Given the description of an element on the screen output the (x, y) to click on. 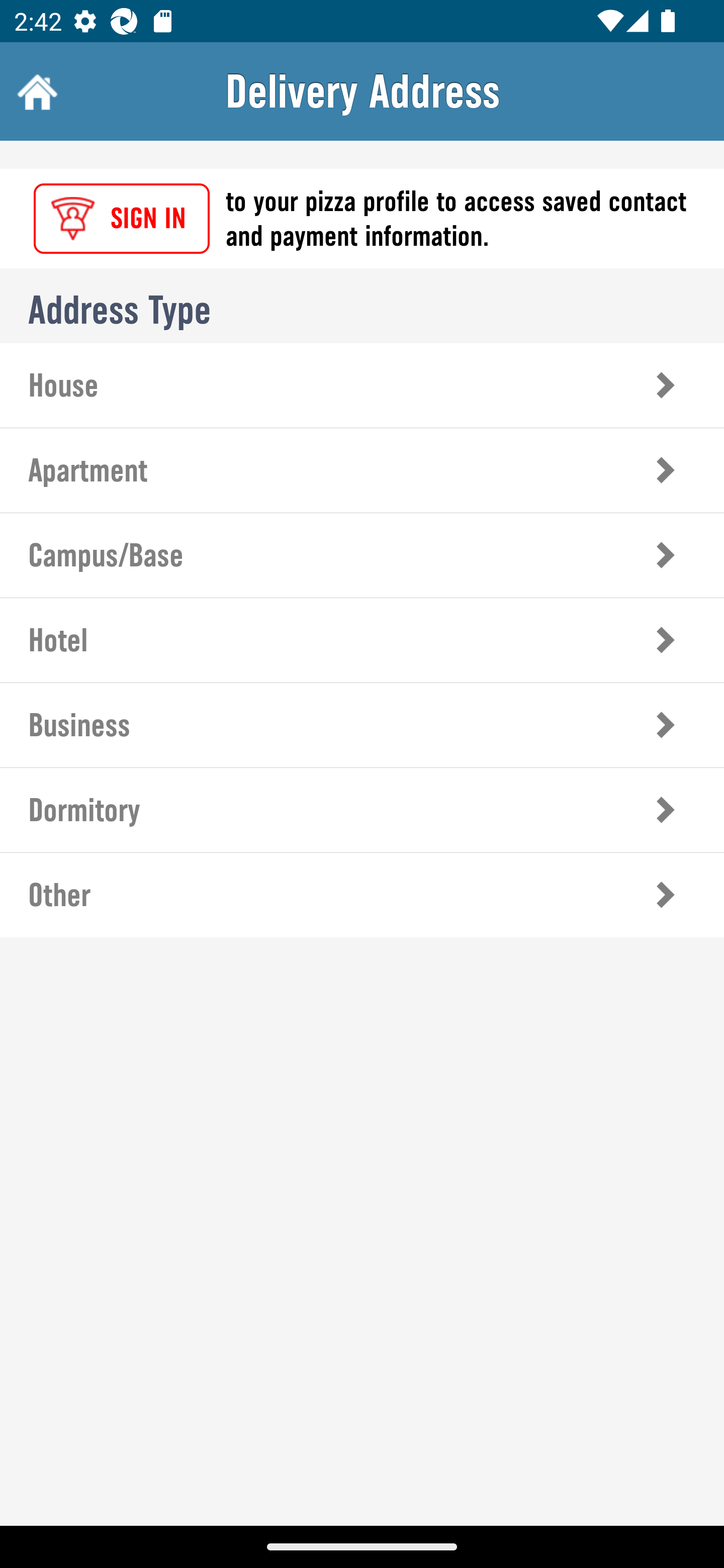
Home (35, 91)
SIGN IN (121, 218)
1 of 7, House House Address Details (362, 385)
2 of 7, Apartment Apartment Address Details (362, 470)
3 of 7, Campus/Base Campus/Base Address Details (362, 554)
4 of 7, Hotel Hotel Address Details (362, 639)
5 of 7, Business Business Address Details (362, 724)
6 of 7, Dormitory Dormitory Address Details (362, 810)
7 of 7, Other Other Address Details (362, 894)
